Given the description of an element on the screen output the (x, y) to click on. 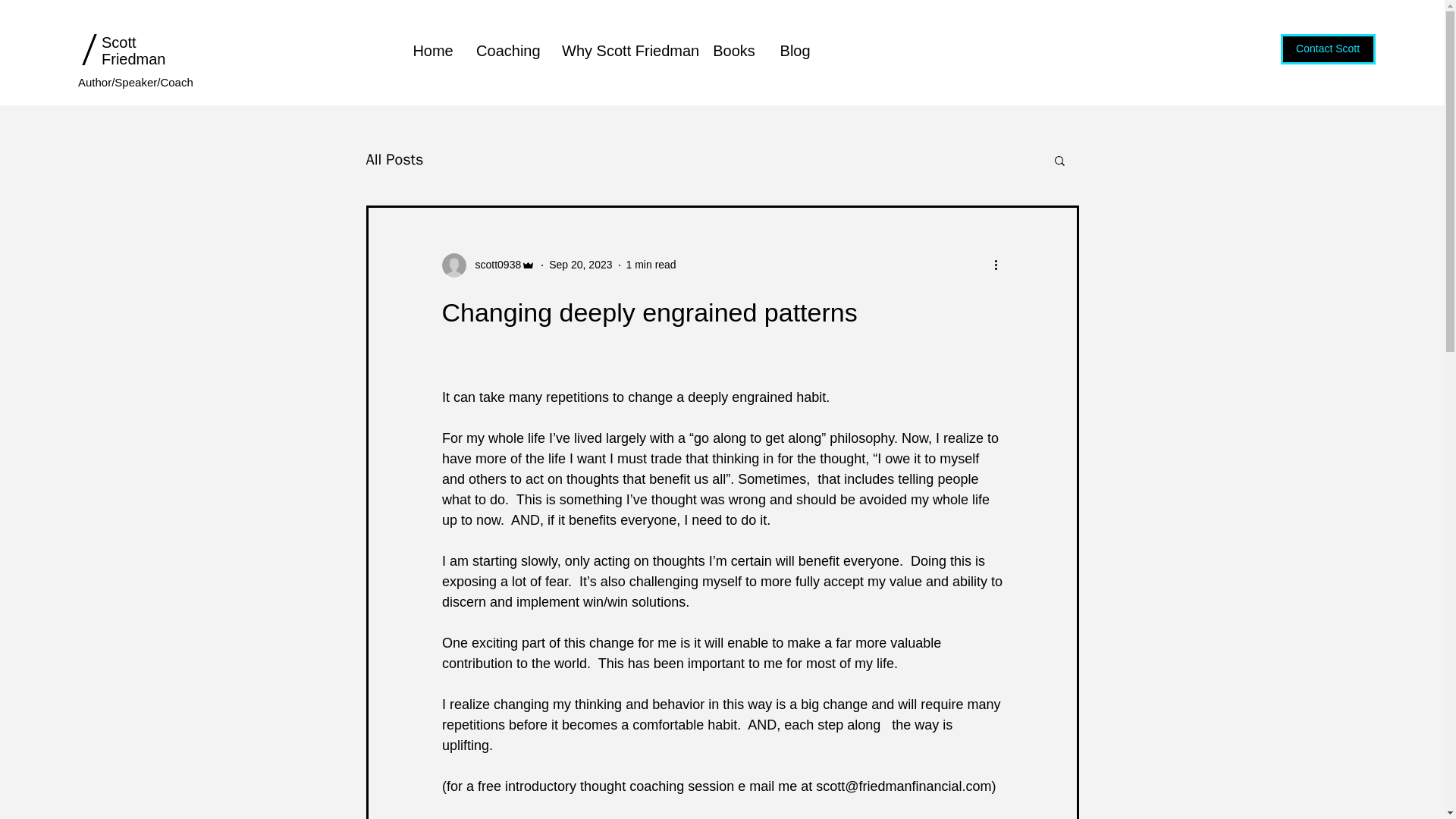
Home (432, 50)
Scott Friedman (133, 50)
scott0938 (488, 265)
Blog (794, 50)
Books (733, 50)
Coaching (507, 50)
scott0938 (493, 264)
Why Scott Friedman (625, 50)
1 min read (651, 264)
All Posts (394, 159)
Contact Scott (1328, 49)
Sep 20, 2023 (579, 264)
